Given the description of an element on the screen output the (x, y) to click on. 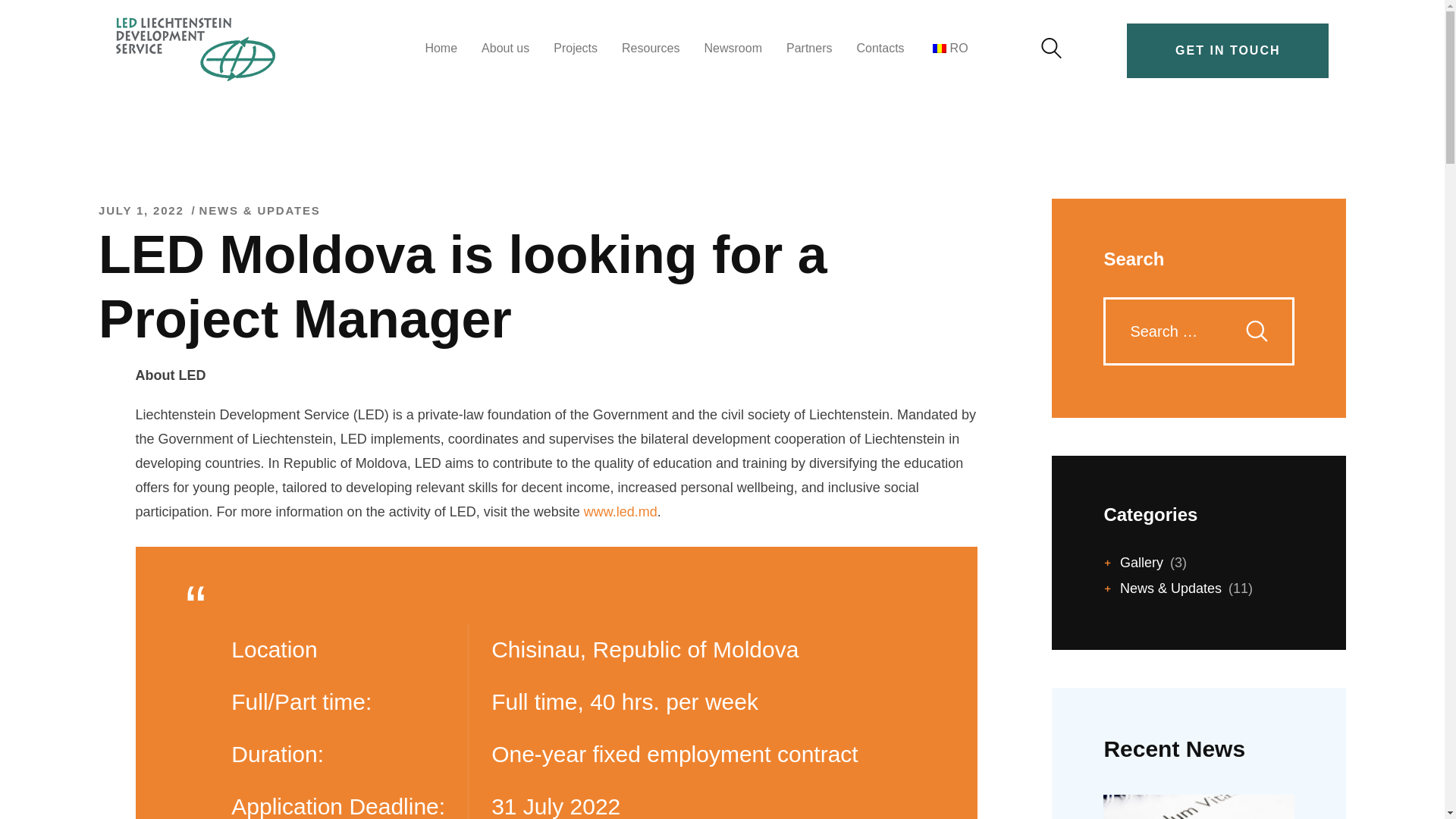
Partners (809, 48)
Contacts (879, 48)
Home (440, 48)
Resources (650, 48)
Newsroom (733, 48)
About us (504, 48)
GET IN TOUCH (1226, 50)
RO (948, 48)
www.led.md (620, 511)
Projects (575, 48)
